Given the description of an element on the screen output the (x, y) to click on. 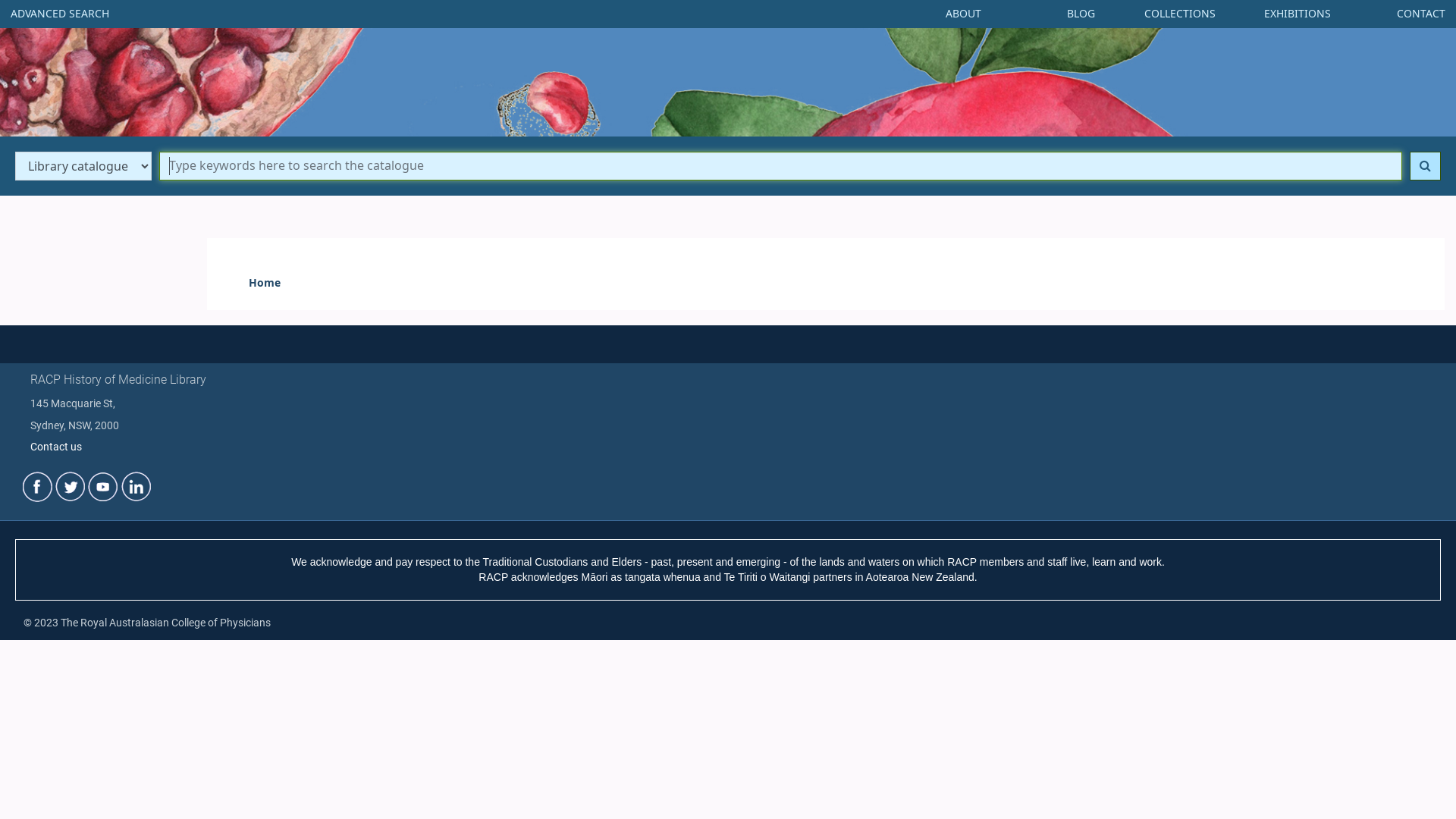
Facebook Element type: hover (37, 486)
YouTube Element type: hover (102, 486)
EXHIBITIONS Element type: text (1297, 13)
ADVANCED SEARCH Element type: text (59, 13)
Contact us Element type: text (55, 446)
ABOUT Element type: text (963, 13)
COLLECTIONS Element type: text (1179, 13)
  Element type: text (119, 485)
CONTACT Element type: text (1420, 13)
Twitter Element type: hover (69, 486)
Home Element type: text (264, 283)
LinkedIn Element type: hover (135, 486)
Search Element type: hover (1424, 165)
BLOG Element type: text (1080, 13)
